Given the description of an element on the screen output the (x, y) to click on. 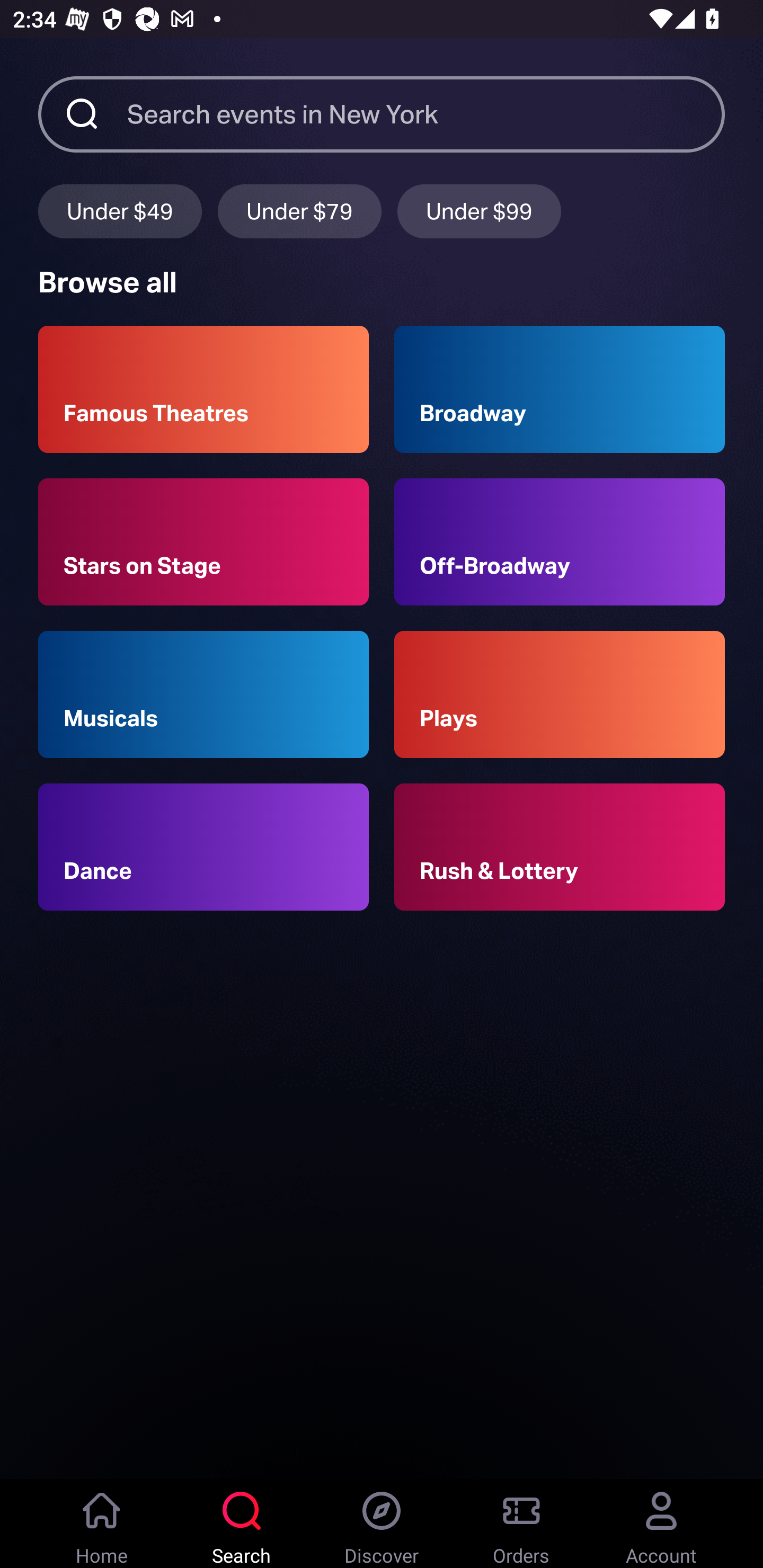
Search events in New York (425, 113)
Under $49 (120, 211)
Under $79 (299, 211)
Under $99 (478, 211)
Famous Theatres (203, 389)
Broadway (559, 389)
Stars on Stage (203, 541)
Off-Broadway (559, 541)
Musicals (203, 693)
Plays (559, 693)
Dance (203, 847)
Rush & Lottery (559, 847)
Home (101, 1523)
Discover (381, 1523)
Orders (521, 1523)
Account (660, 1523)
